Given the description of an element on the screen output the (x, y) to click on. 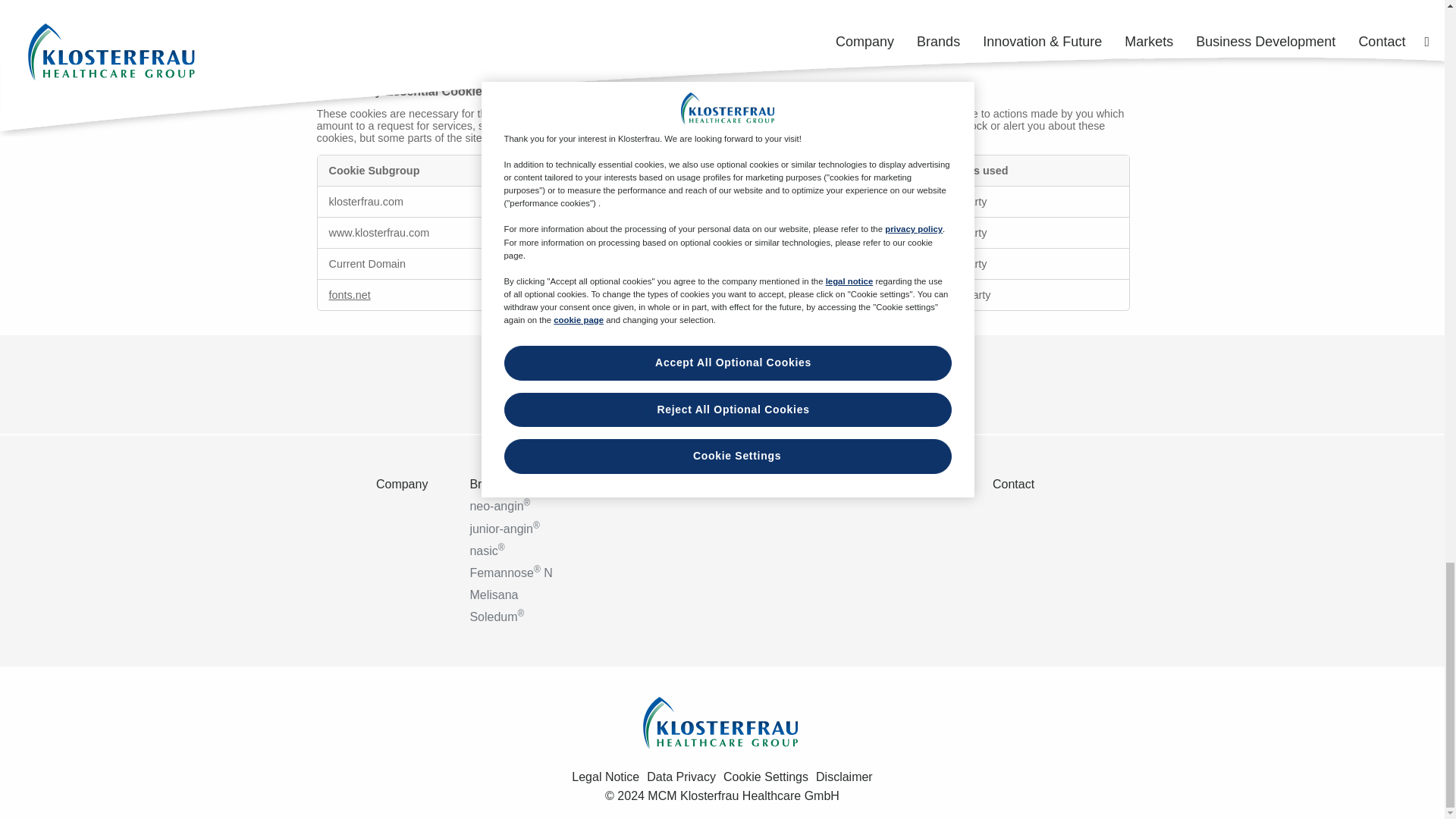
Brands (527, 484)
Melisana (527, 594)
OptanonConsent (698, 232)
fonts.net (350, 295)
dwsid (680, 263)
Company (418, 484)
OptanonAlertBoxClosed (590, 232)
